Given the description of an element on the screen output the (x, y) to click on. 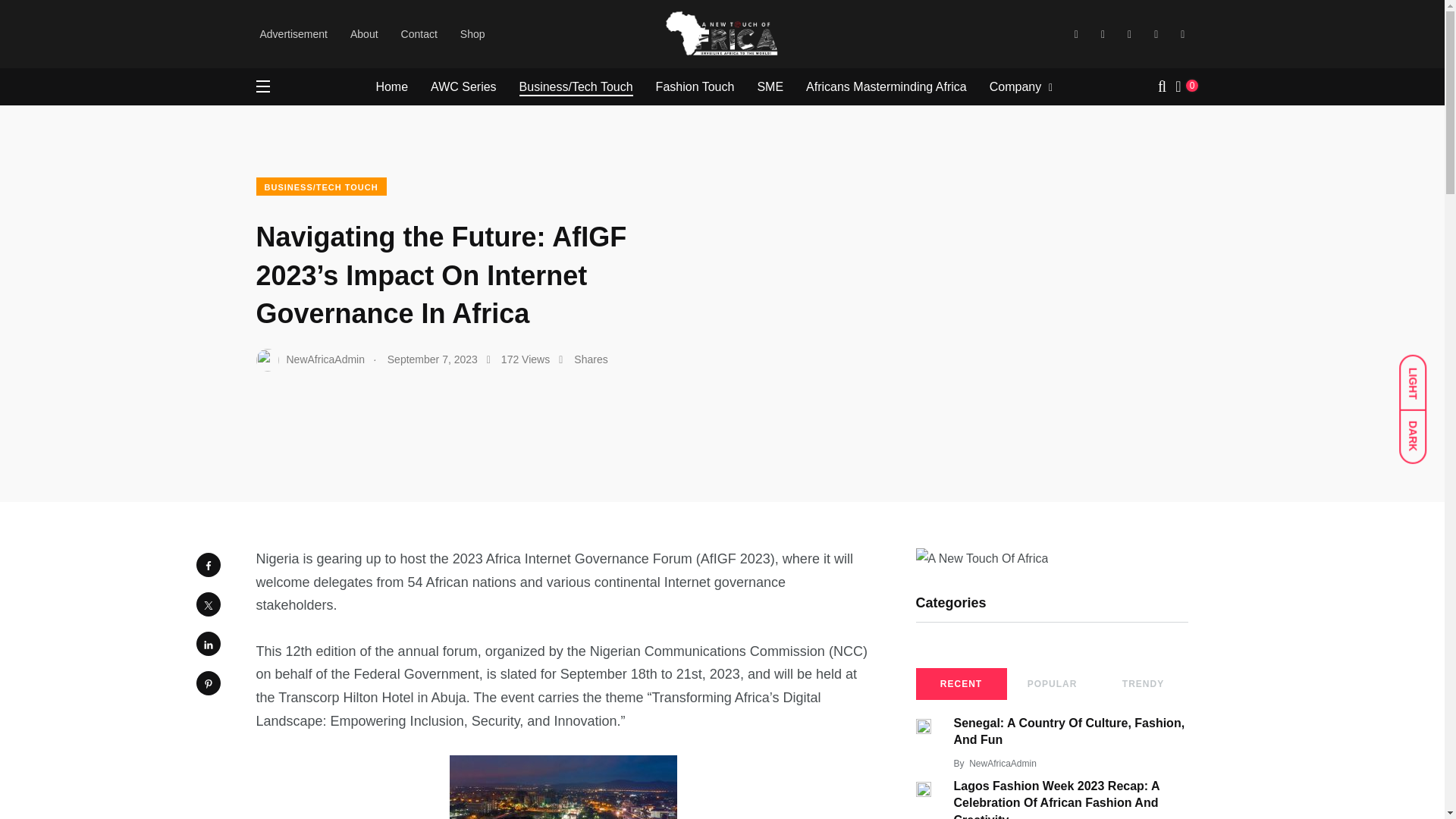
Share on Pinterest (207, 682)
Fashion Touch (695, 86)
Share on Facebook (207, 564)
News (392, 23)
Shop (472, 33)
Company (1015, 86)
Light Mode (1420, 375)
Share on LinkedIn (207, 643)
SME (770, 86)
Go to News. (392, 23)
